Given the description of an element on the screen output the (x, y) to click on. 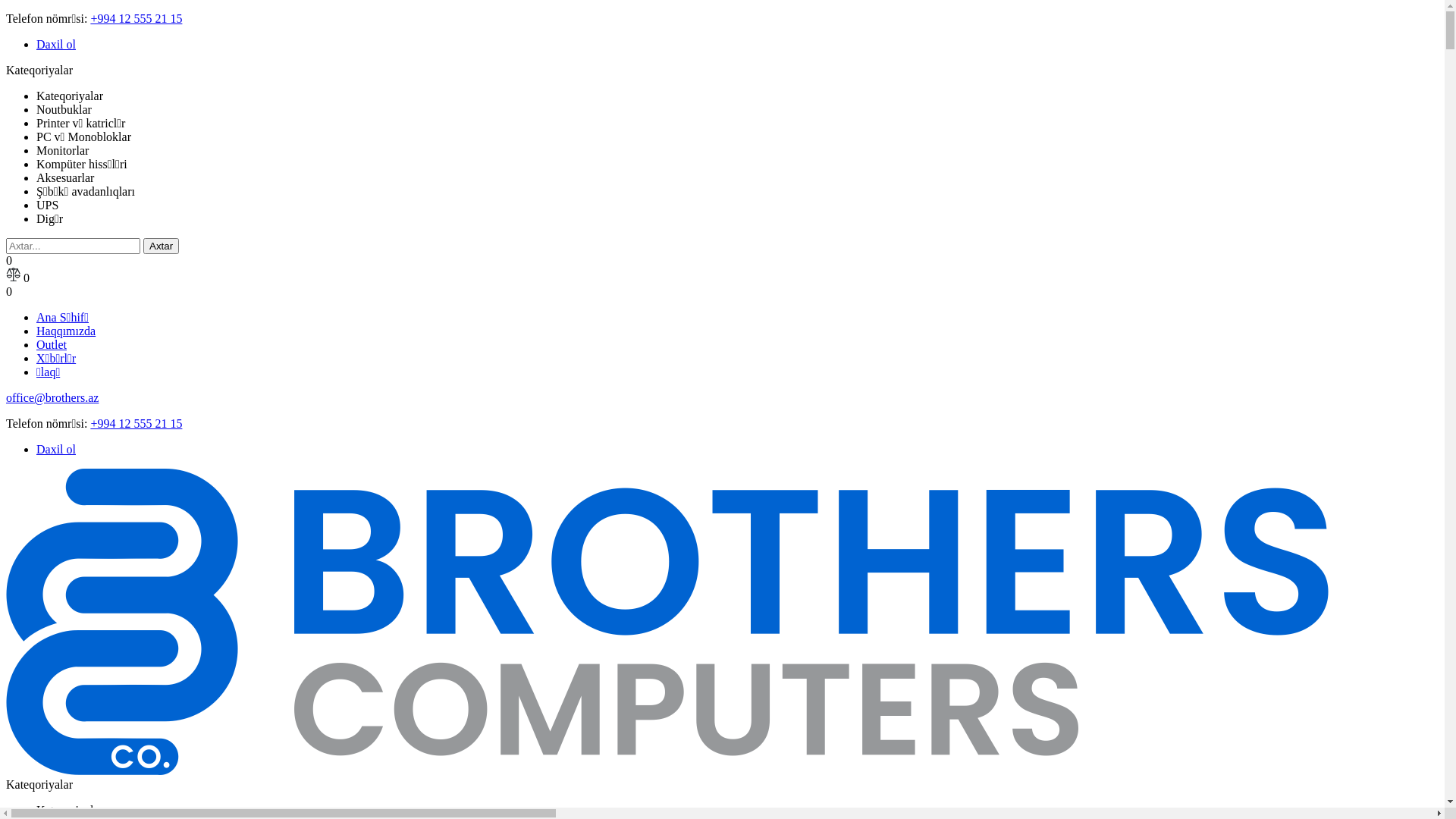
Outlet Element type: text (51, 344)
+994 12 555 21 15 Element type: text (136, 423)
+994 12 555 21 15 Element type: text (136, 18)
Daxil ol Element type: text (55, 43)
office@brothers.az Element type: text (52, 397)
Axtar Element type: text (160, 246)
Daxil ol Element type: text (55, 448)
